Given the description of an element on the screen output the (x, y) to click on. 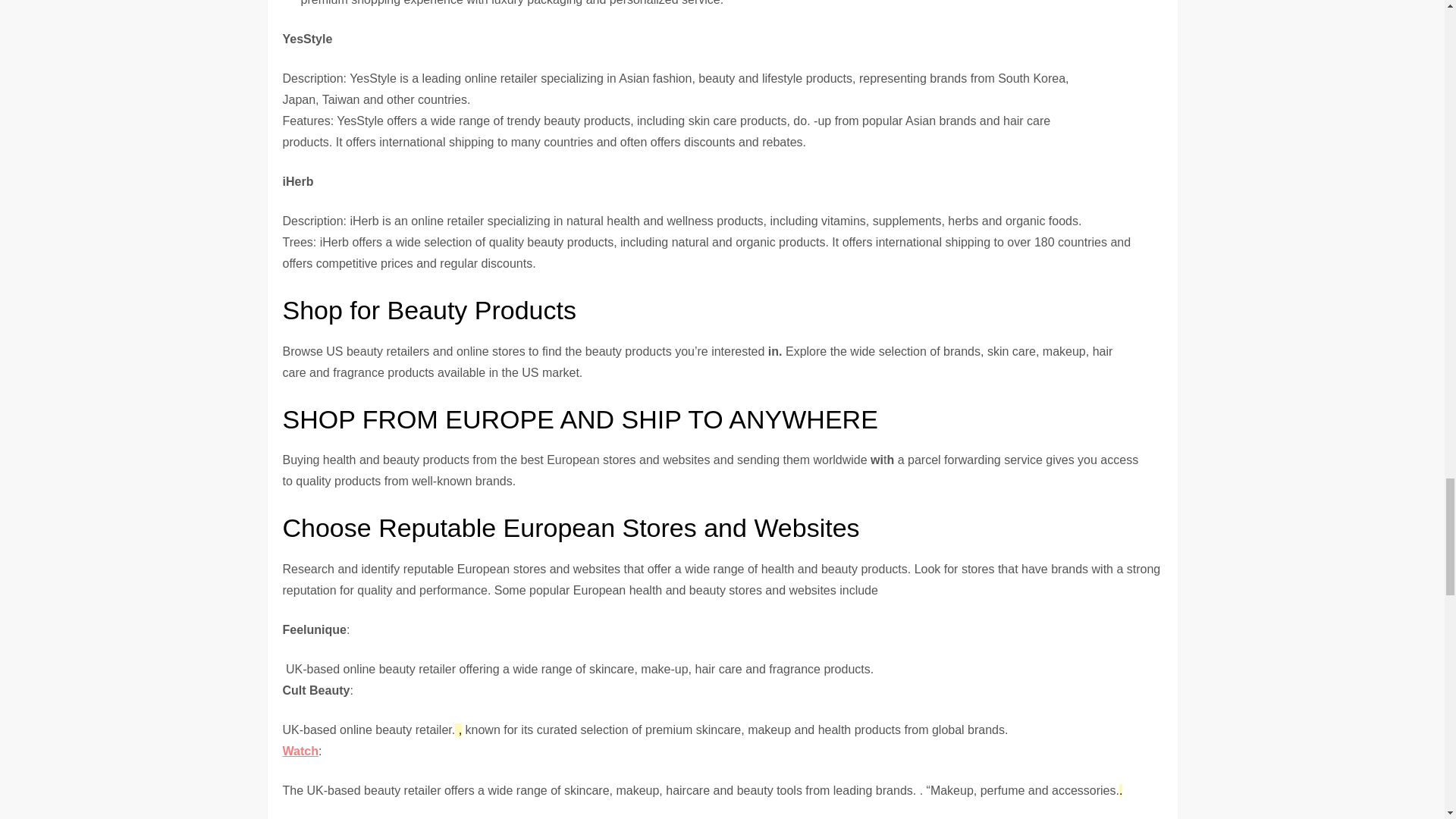
Watch (299, 750)
